Given the description of an element on the screen output the (x, y) to click on. 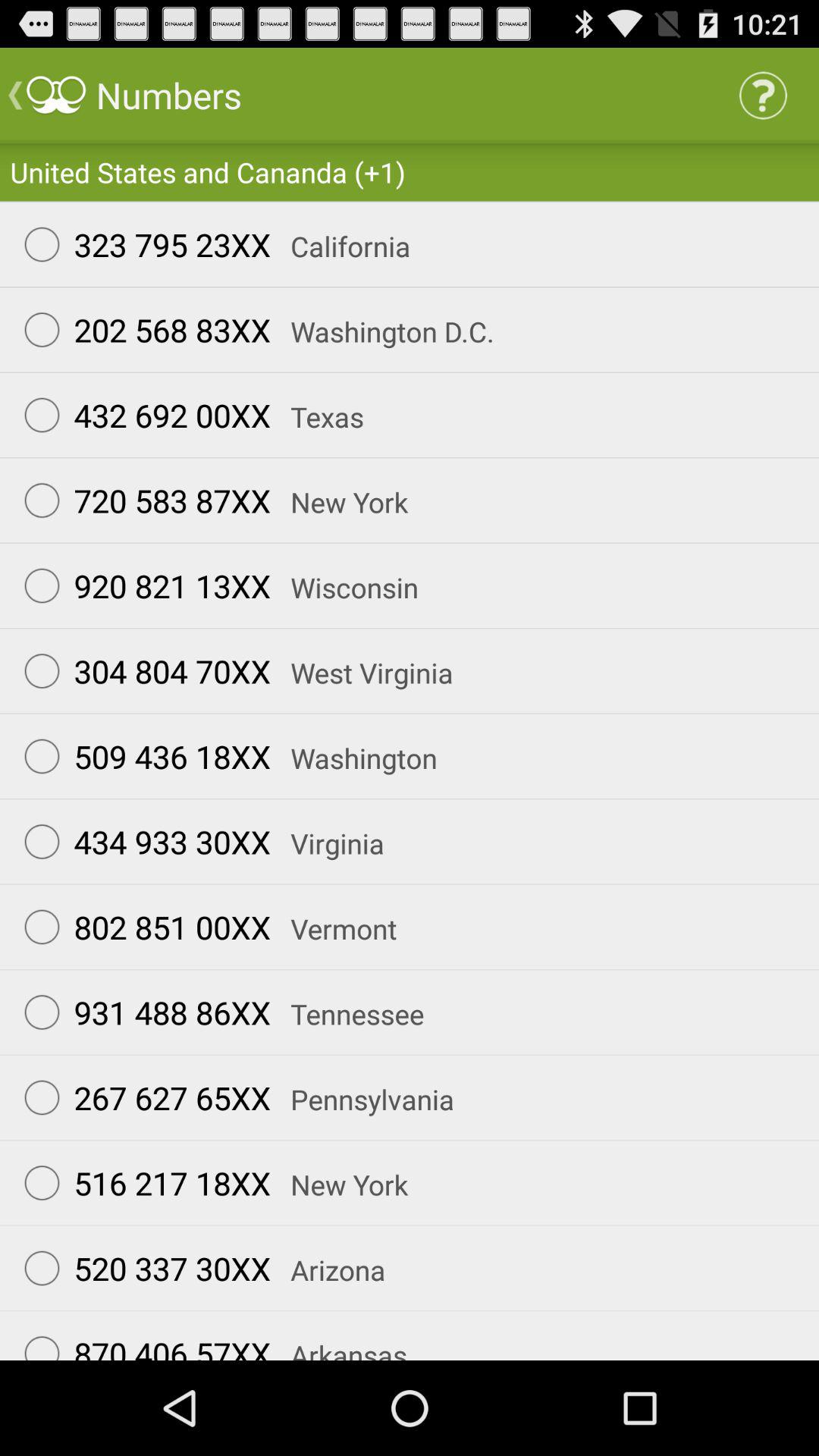
click the item to the left of arkansas icon (140, 1340)
